Given the description of an element on the screen output the (x, y) to click on. 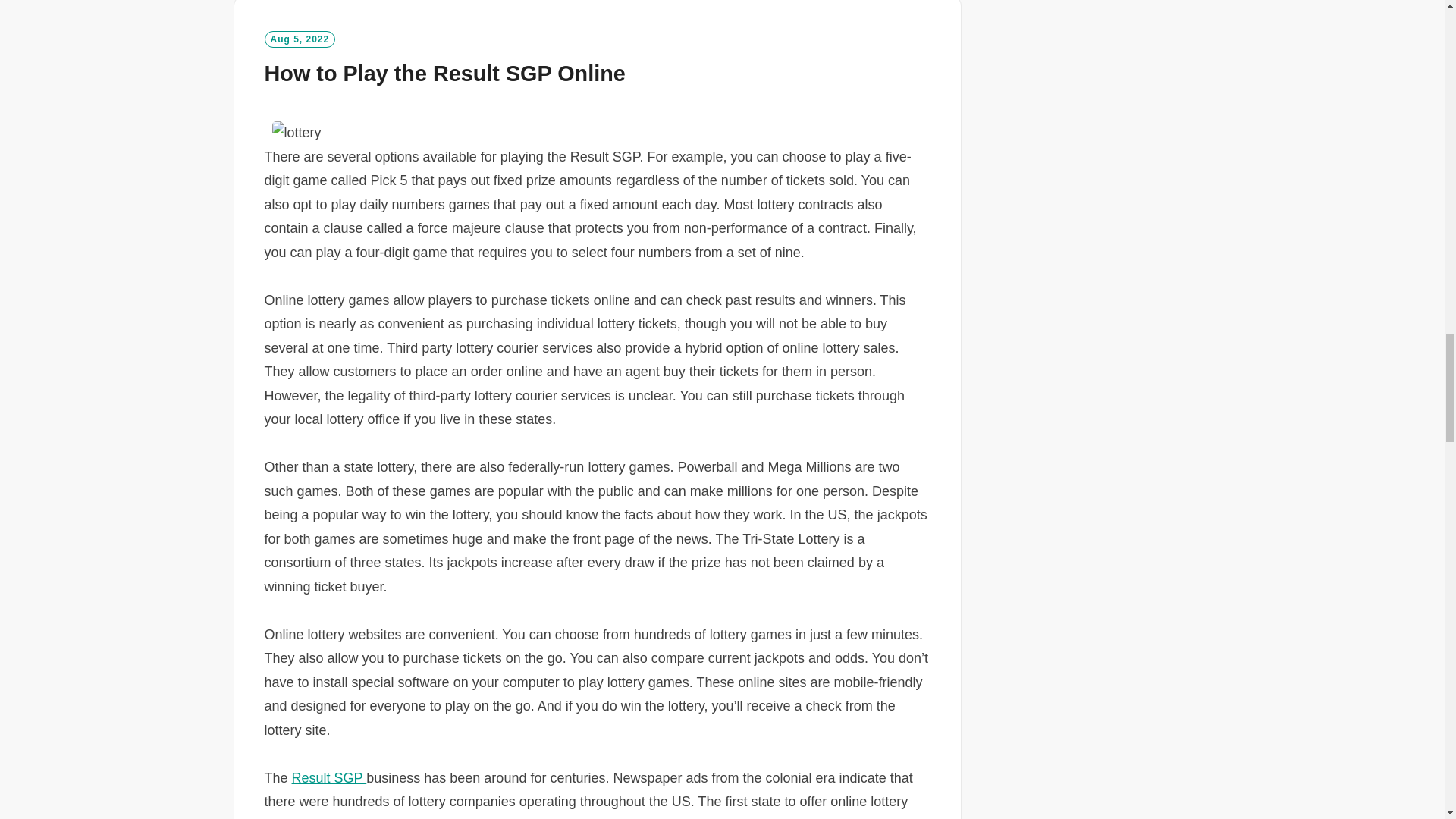
Aug 5, 2022 (298, 39)
How to Play the Result SGP Online (443, 73)
Result SGP (329, 777)
